Given the description of an element on the screen output the (x, y) to click on. 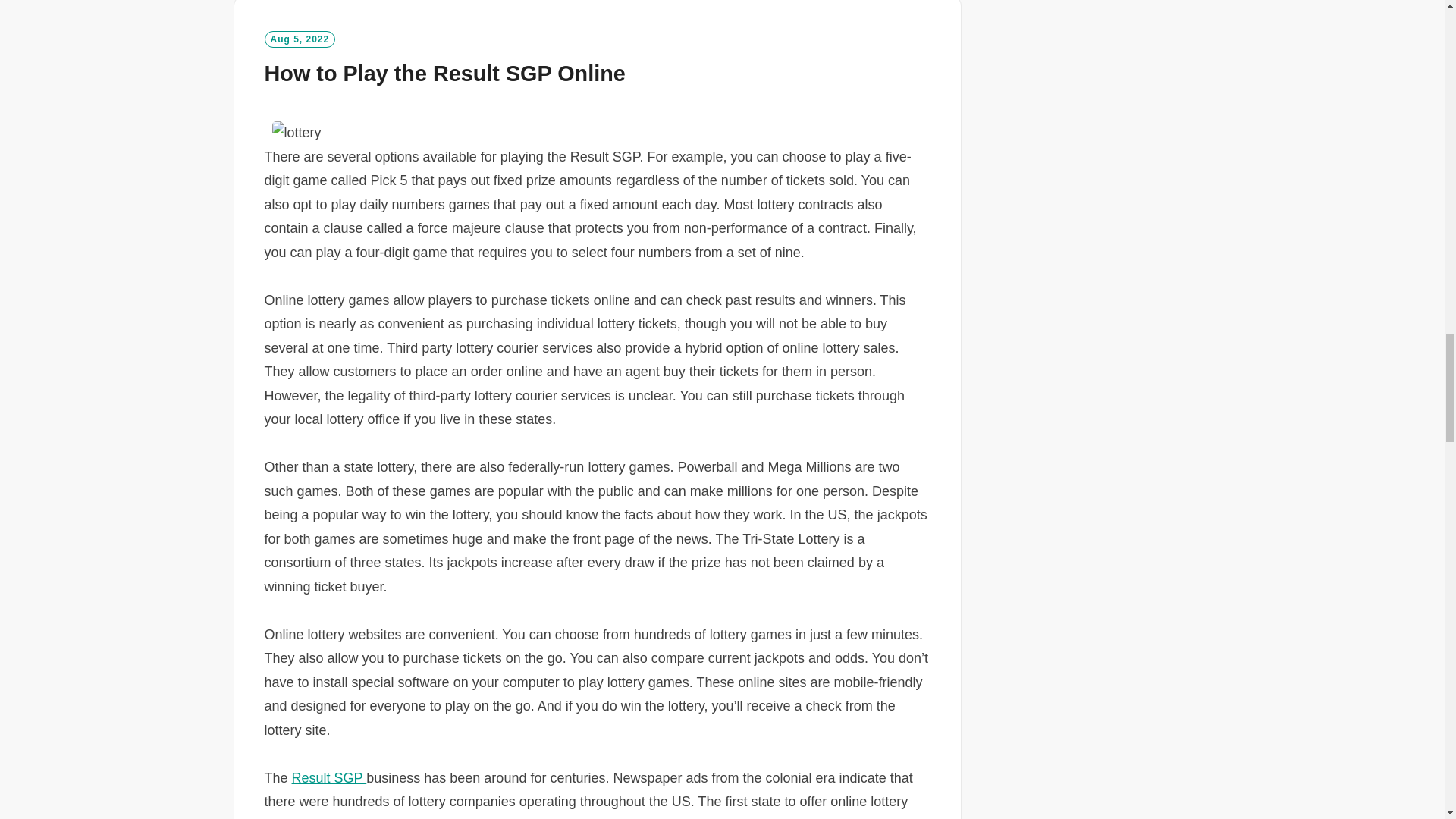
Aug 5, 2022 (298, 39)
How to Play the Result SGP Online (443, 73)
Result SGP (329, 777)
